Given the description of an element on the screen output the (x, y) to click on. 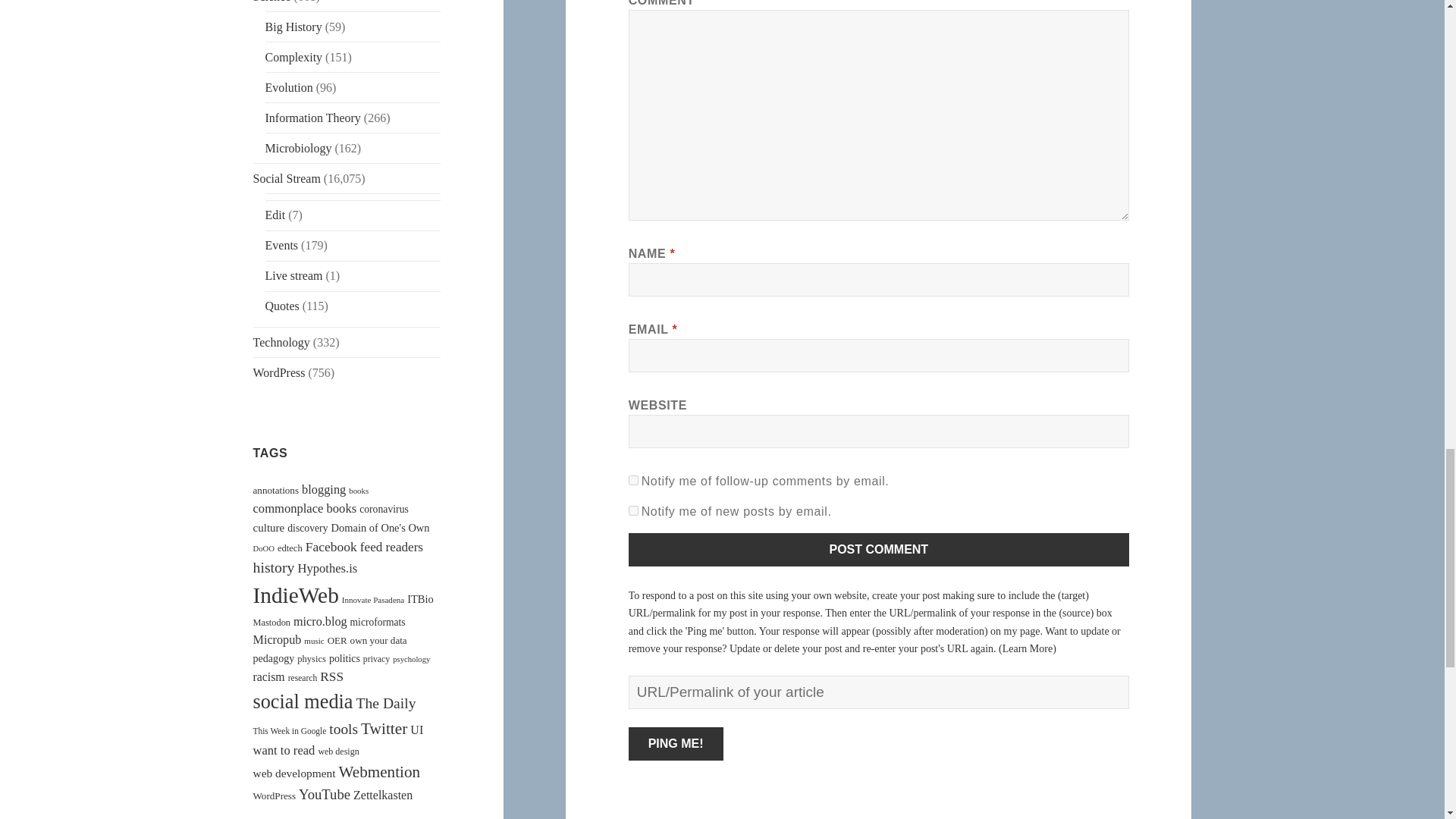
Ping me! (675, 743)
subscribe (633, 510)
Post Comment (878, 549)
subscribe (633, 480)
